Given the description of an element on the screen output the (x, y) to click on. 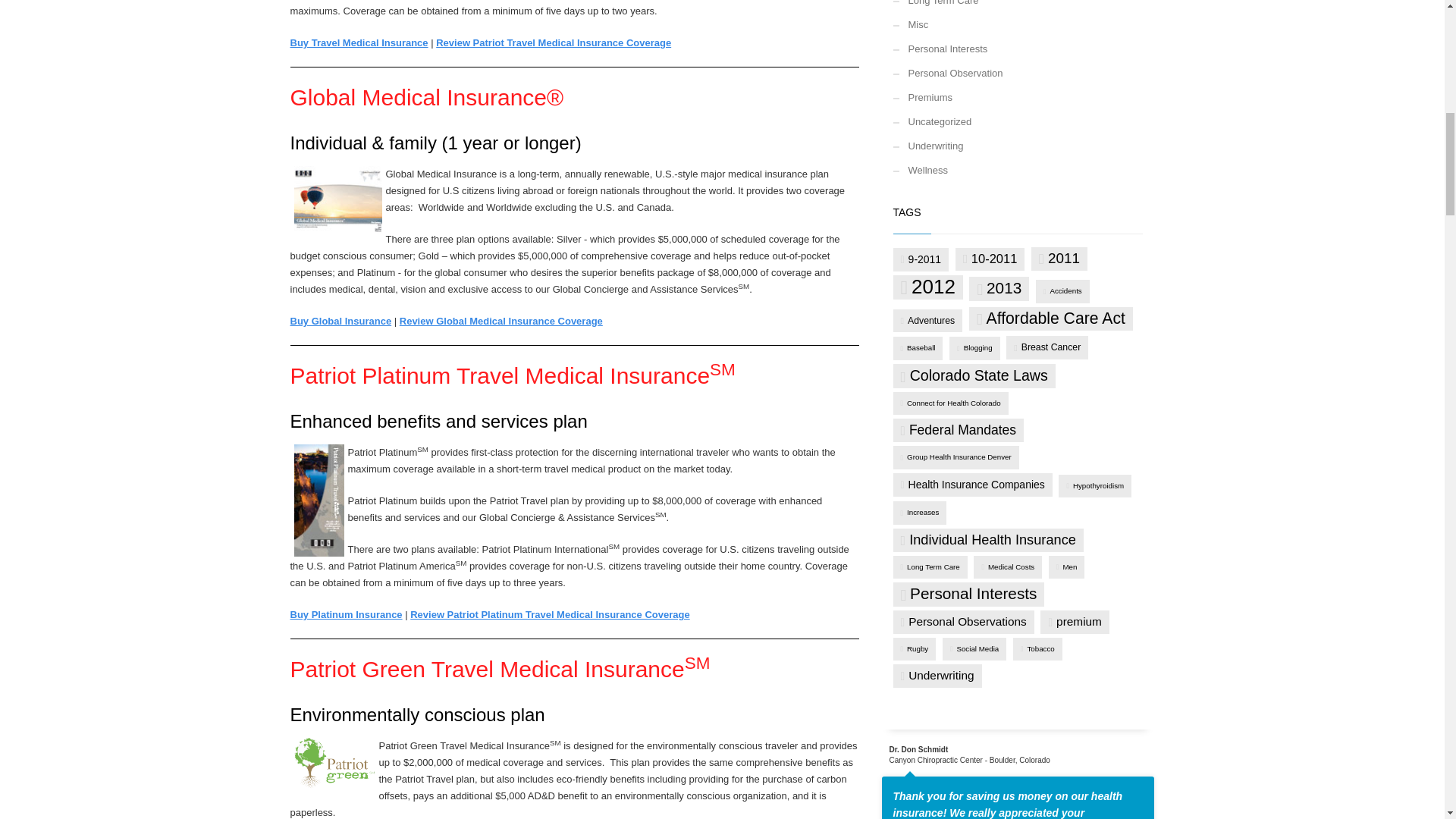
Review Patriot Platinum Travel Medical Insurance Coverage (549, 614)
Buy Patriot Platinum Travel Medical Insurance (345, 614)
Review Patriot Travel Medical Insurance Coverage (553, 42)
Review Global Medical Insurance Coverage (500, 320)
Buy Global Insurance (340, 320)
Buy Platinum Insurance (345, 614)
Review Global Medical Insurance Coverage (500, 320)
Review Patriot Platinum Travel Medical Insurance Coverage (549, 614)
Review Patriot Travel Medical Insurance Coverage (553, 42)
Buy Travel Medical Insurance (358, 42)
